Given the description of an element on the screen output the (x, y) to click on. 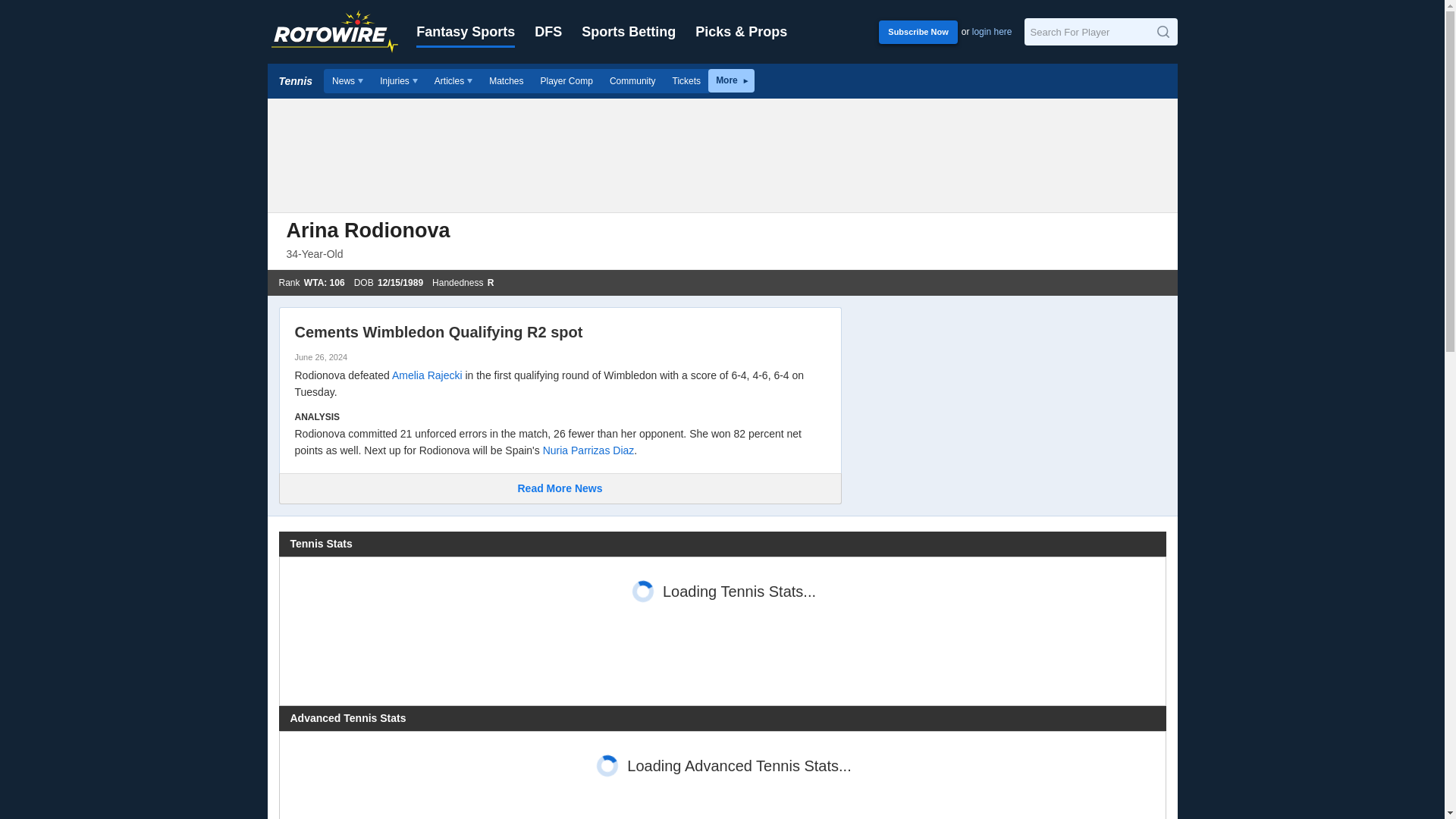
Tennis Player Comp (566, 80)
Tickets (686, 80)
Tennis Matches and Info (505, 80)
Subscribe Now (917, 31)
Sports Betting (627, 31)
Player Comp (566, 80)
login here (991, 31)
Fantasy Sports (465, 31)
DFS (548, 31)
Community (632, 80)
Matches (505, 80)
More (730, 80)
Tickets (686, 80)
Tennis (296, 80)
RotoWire Discord (632, 80)
